Given the description of an element on the screen output the (x, y) to click on. 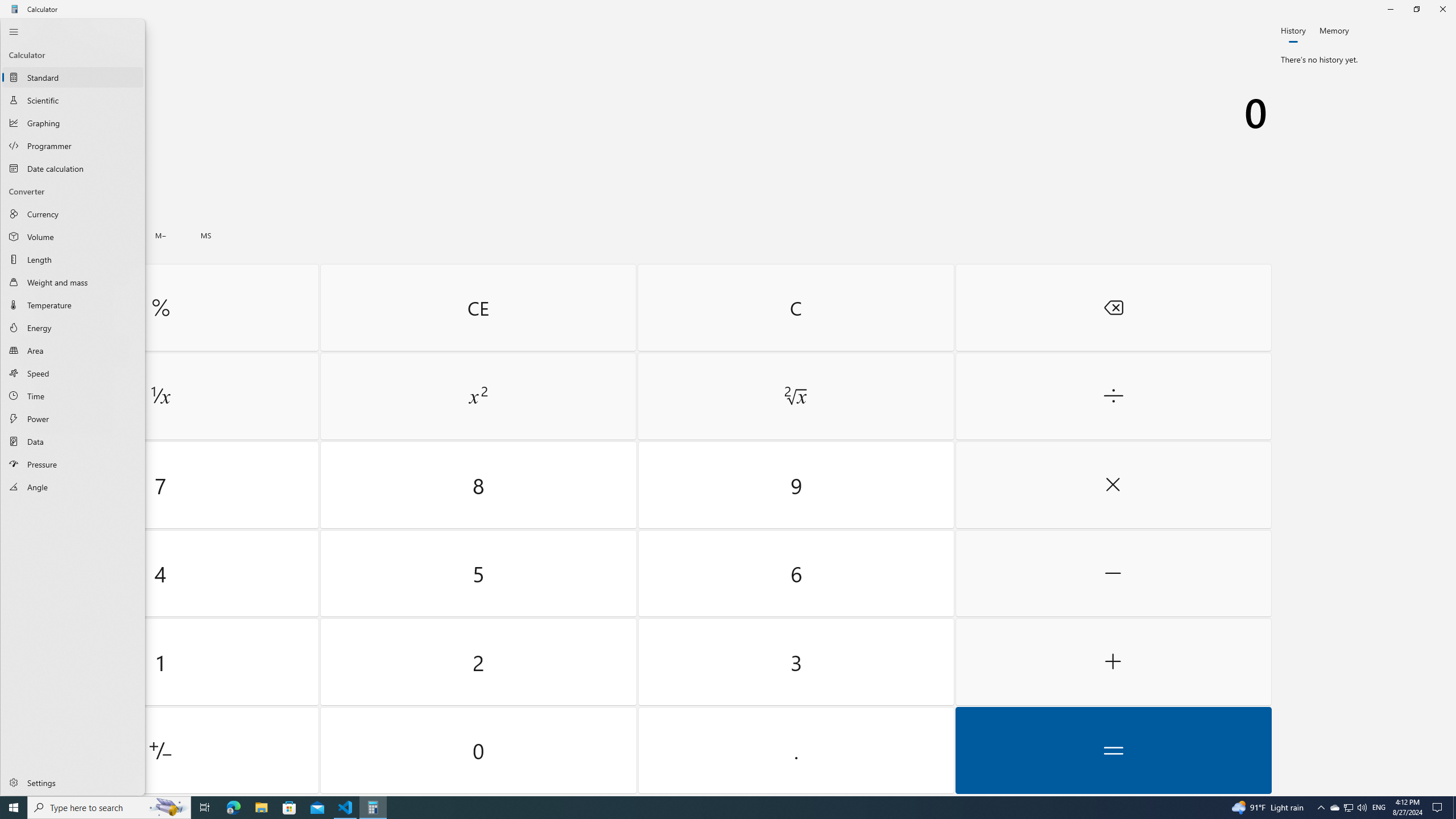
Three (795, 661)
Close Calculator (1442, 9)
Four (160, 572)
Six (795, 572)
Eight (478, 485)
Speed Converter (72, 372)
Decimal separator (795, 749)
Power Converter (72, 418)
Date calculation Calculator (72, 168)
Plus (1113, 661)
Energy Converter (72, 327)
Square (478, 396)
Memory store (206, 235)
